Given the description of an element on the screen output the (x, y) to click on. 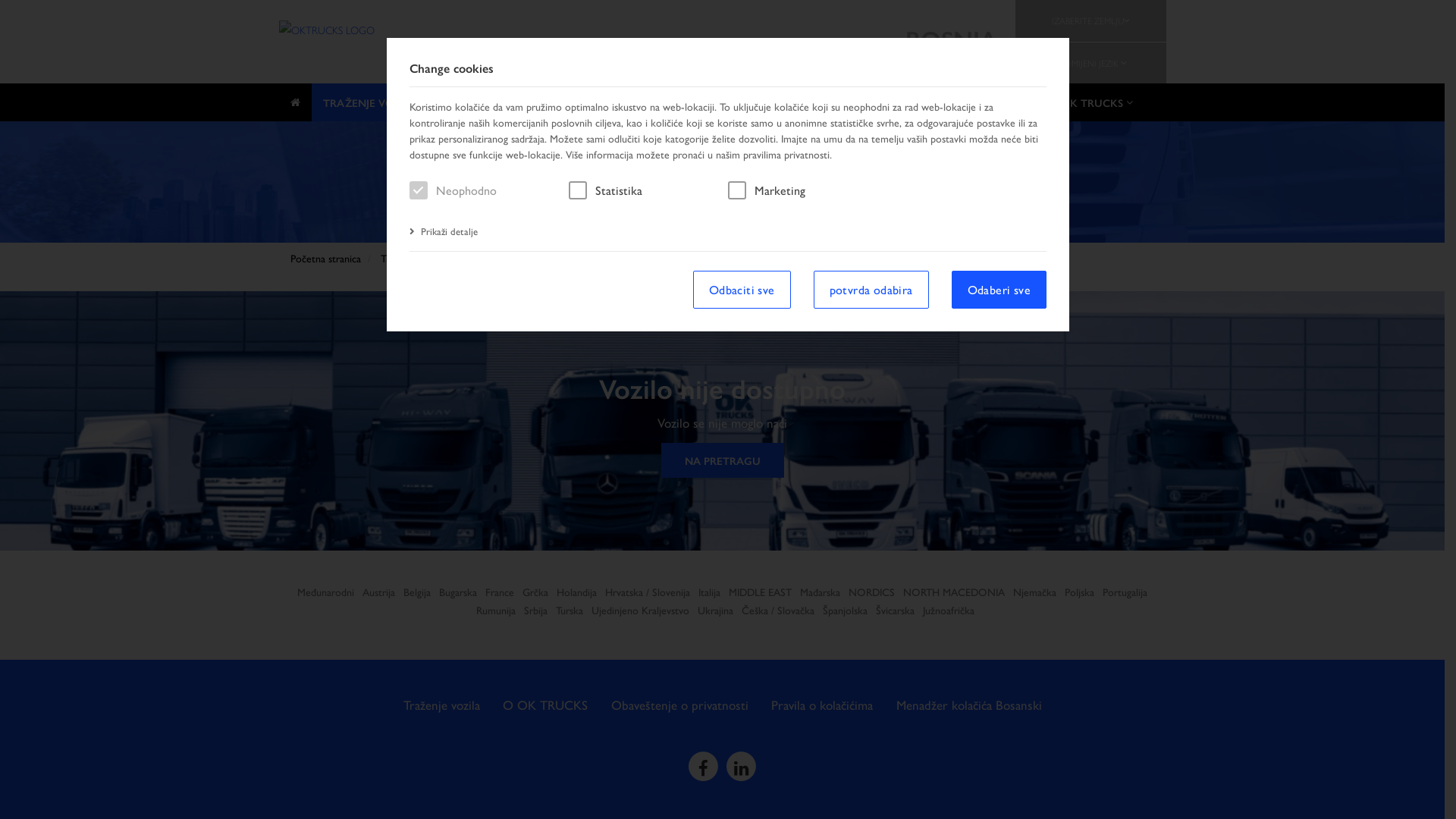
Portugalija Element type: text (1124, 591)
O OK TRUCKS Element type: text (535, 704)
Odbaciti sve Element type: text (741, 289)
NA PRETRAGU Element type: text (722, 459)
NORTH MACEDONIA Element type: text (953, 591)
Ukrajina Element type: text (715, 609)
France Element type: text (499, 591)
Srbija Element type: text (534, 609)
Ujedinjeno Kraljevstvo Element type: text (640, 609)
Belgija Element type: text (416, 591)
Holandija Element type: text (576, 591)
IZABERITE ZEMLJU Element type: text (1090, 20)
NORDICS Element type: text (871, 591)
PROMIJENI JEZIK Element type: text (1090, 63)
Rumunija Element type: text (495, 609)
potvrda odabira Element type: text (870, 289)
MIDDLE EAST Element type: text (759, 591)
Hrvatska / Slovenija Element type: text (647, 591)
Poljska Element type: text (1079, 591)
Bugarska Element type: text (457, 591)
Italija Element type: text (709, 591)
Austrija Element type: text (378, 591)
Turska Element type: text (568, 609)
O OK TRUCKS Element type: text (1090, 102)
USLUGE Element type: text (464, 102)
KAMPANJE Element type: text (677, 102)
Odaberi sve Element type: text (998, 289)
